Given the description of an element on the screen output the (x, y) to click on. 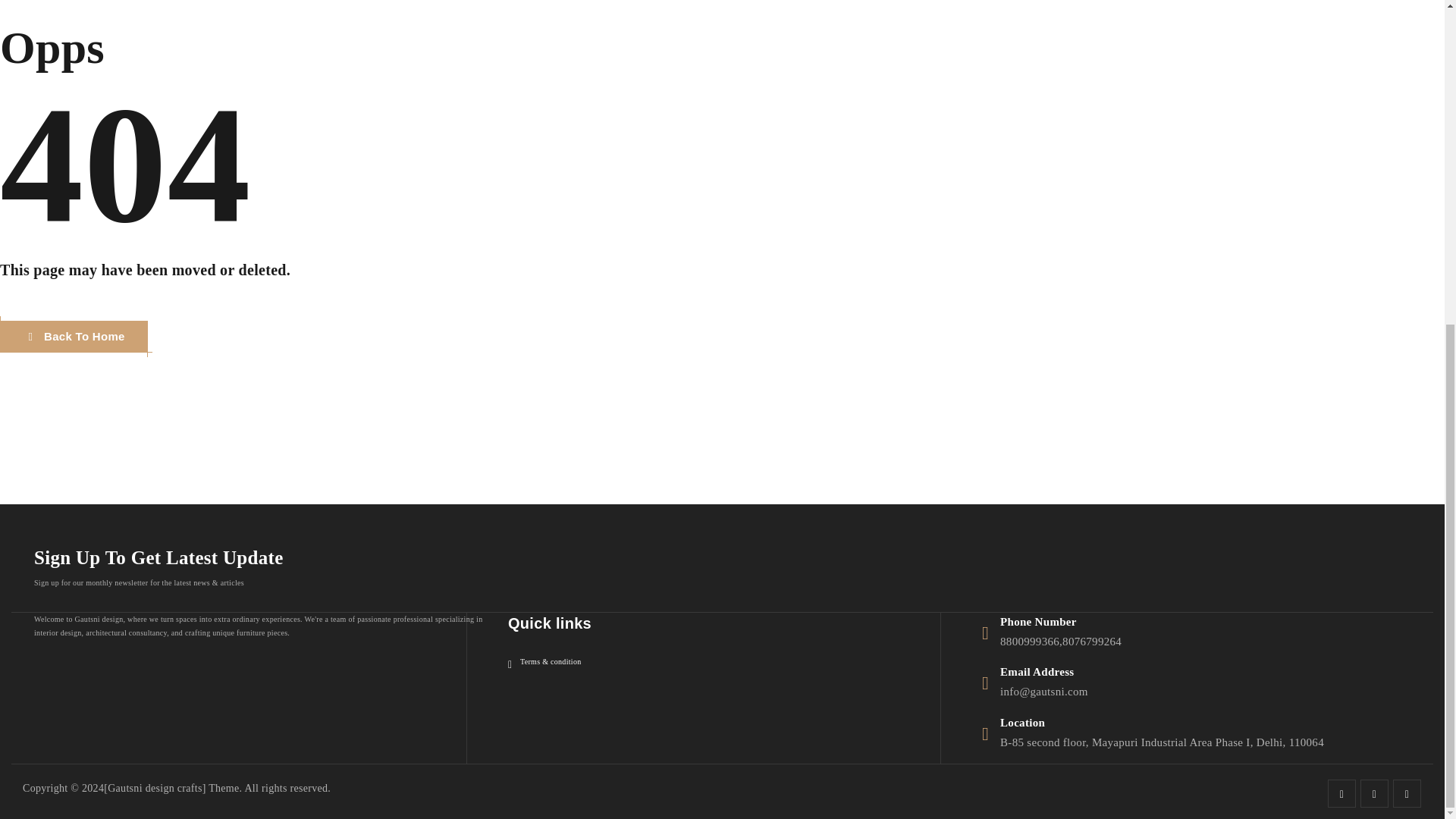
Back To Home (74, 336)
